Given the description of an element on the screen output the (x, y) to click on. 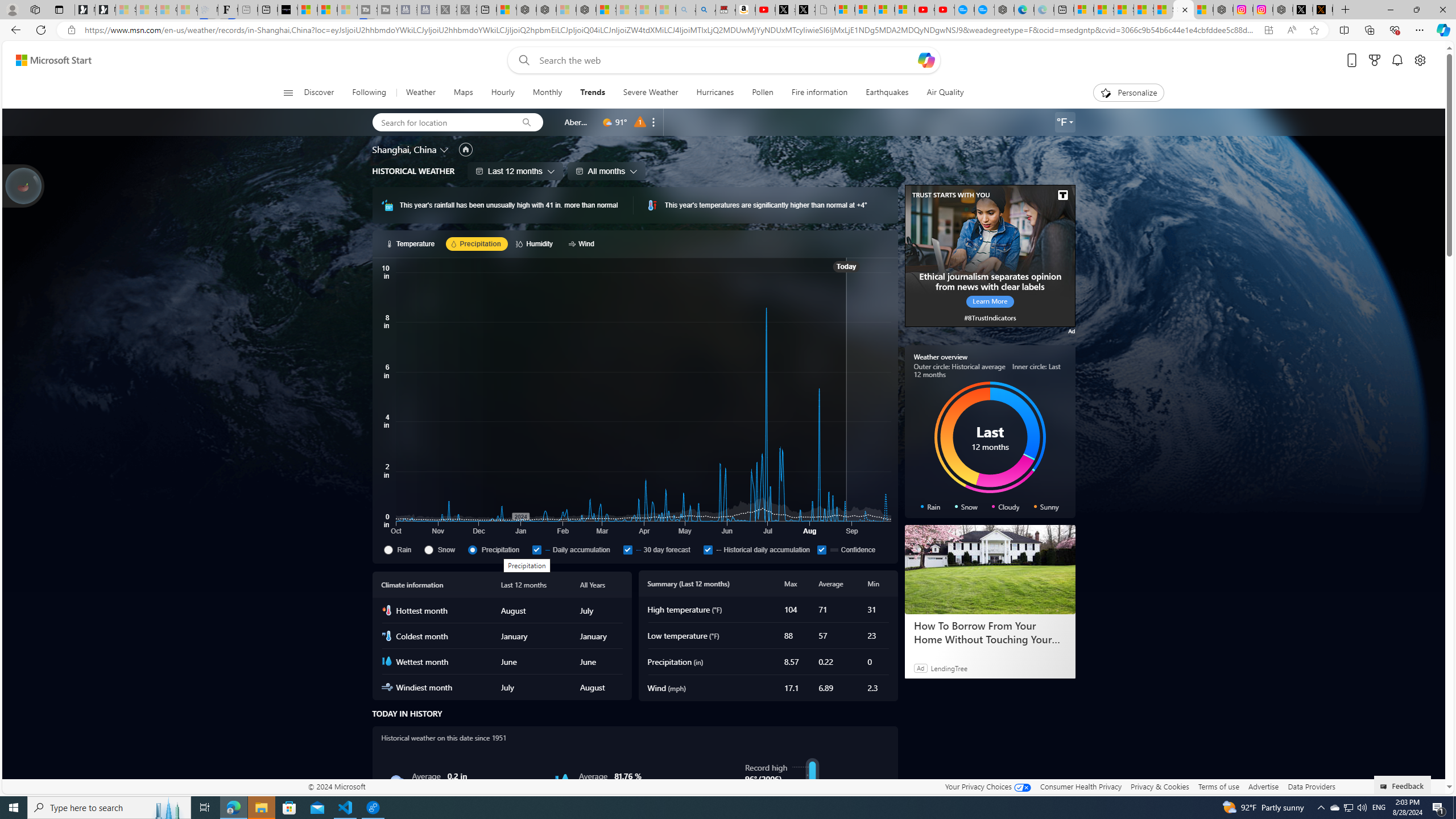
Fire information (819, 92)
Nordace (@NordaceOfficial) / X (1302, 9)
Untitled (825, 9)
Enter your search term (726, 59)
Wind (582, 243)
Discover the Most Luxurious Homes in Dubai (988, 632)
